Given the description of an element on the screen output the (x, y) to click on. 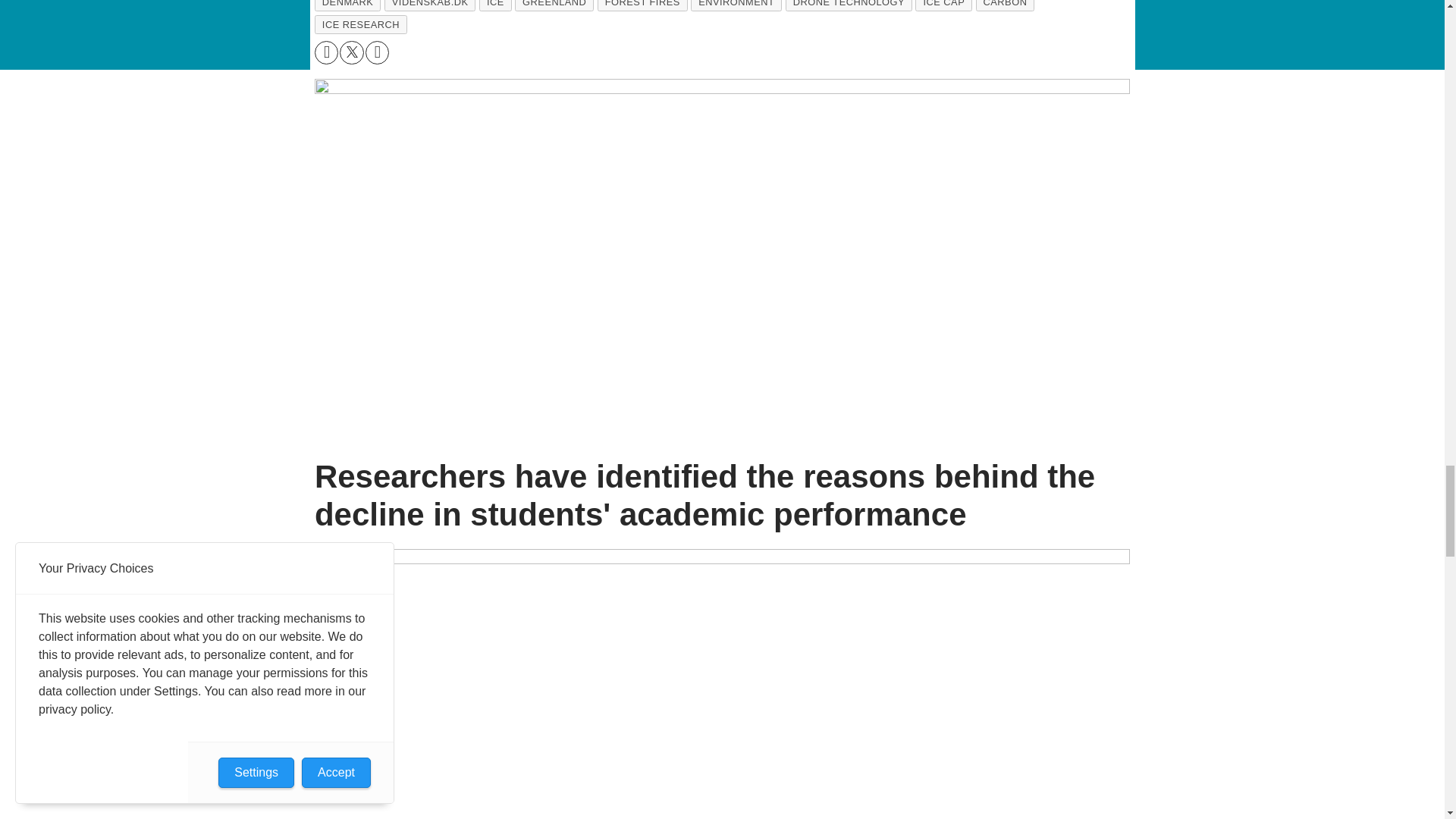
DENMARK (347, 5)
ICE CAP (943, 5)
GREENLAND (554, 5)
ENVIRONMENT (735, 5)
DRONE TECHNOLOGY (849, 5)
VIDENSKAB.DK (430, 5)
FOREST FIRES (641, 5)
ICE (495, 5)
